Given the description of an element on the screen output the (x, y) to click on. 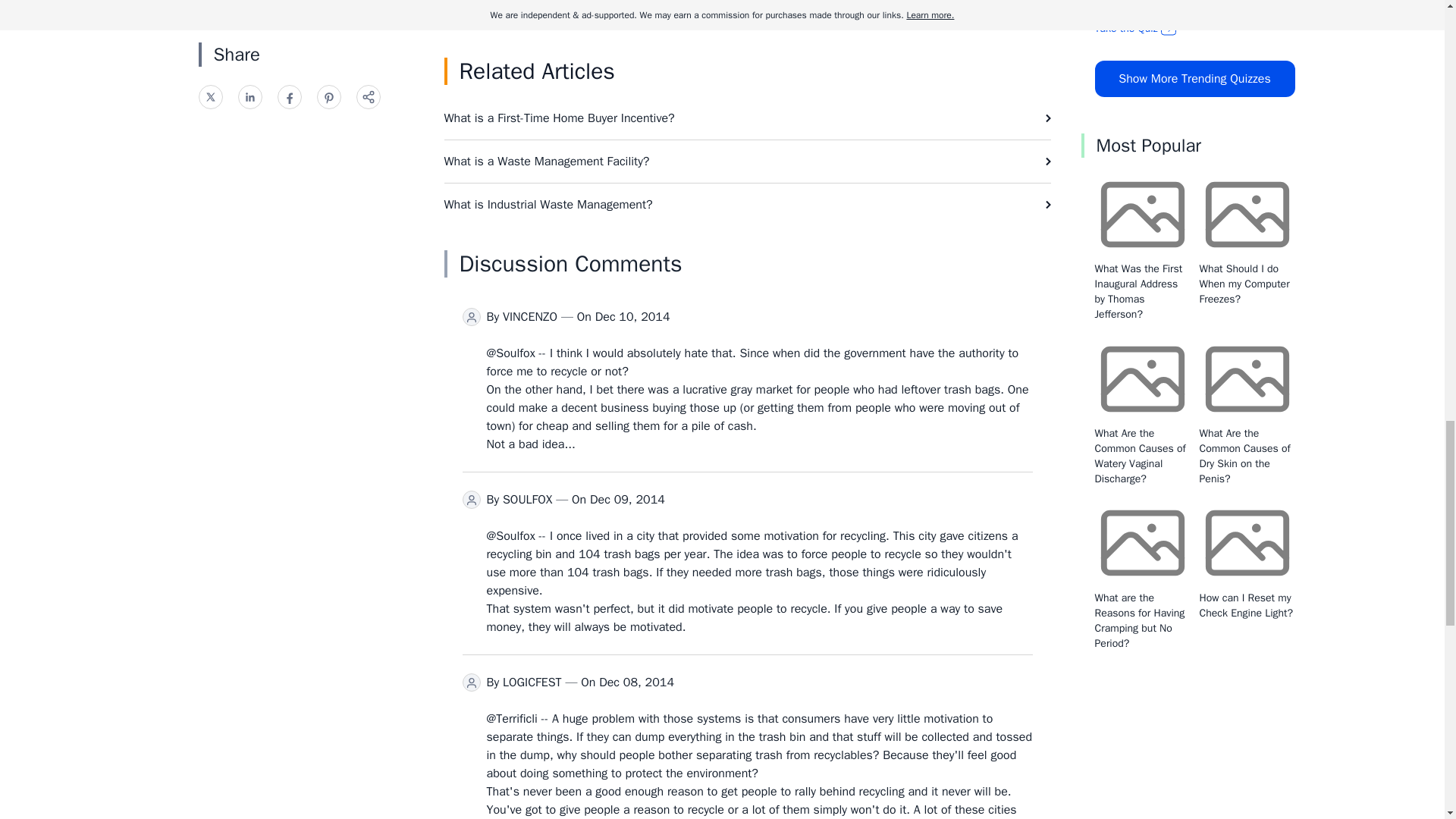
What is Industrial Waste Management? (747, 204)
What is a First-Time Home Buyer Incentive? (747, 118)
What is a Waste Management Facility? (747, 161)
